Given the description of an element on the screen output the (x, y) to click on. 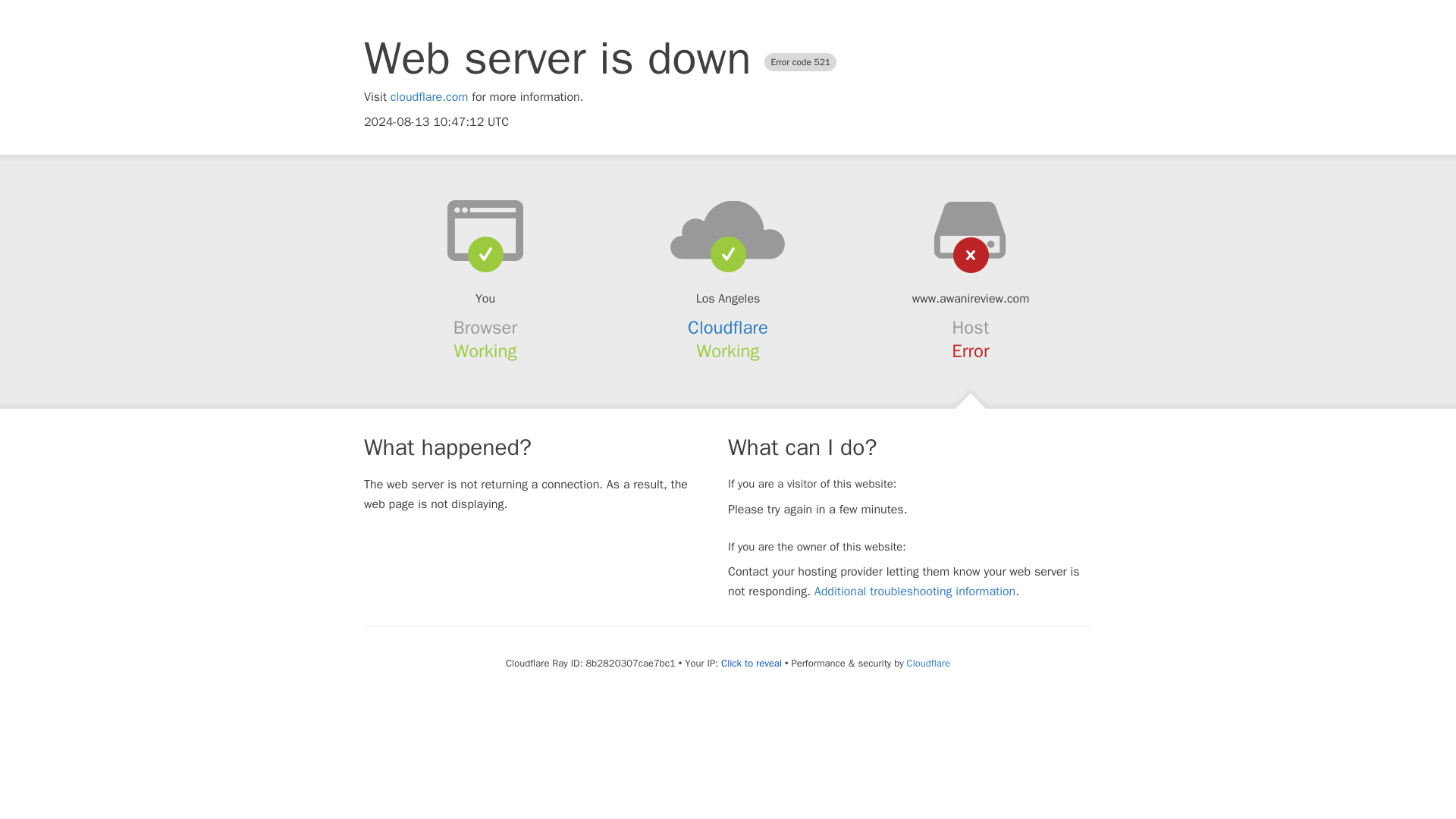
Cloudflare (727, 327)
Cloudflare (928, 662)
cloudflare.com (429, 96)
Click to reveal (750, 663)
Additional troubleshooting information (913, 590)
